Given the description of an element on the screen output the (x, y) to click on. 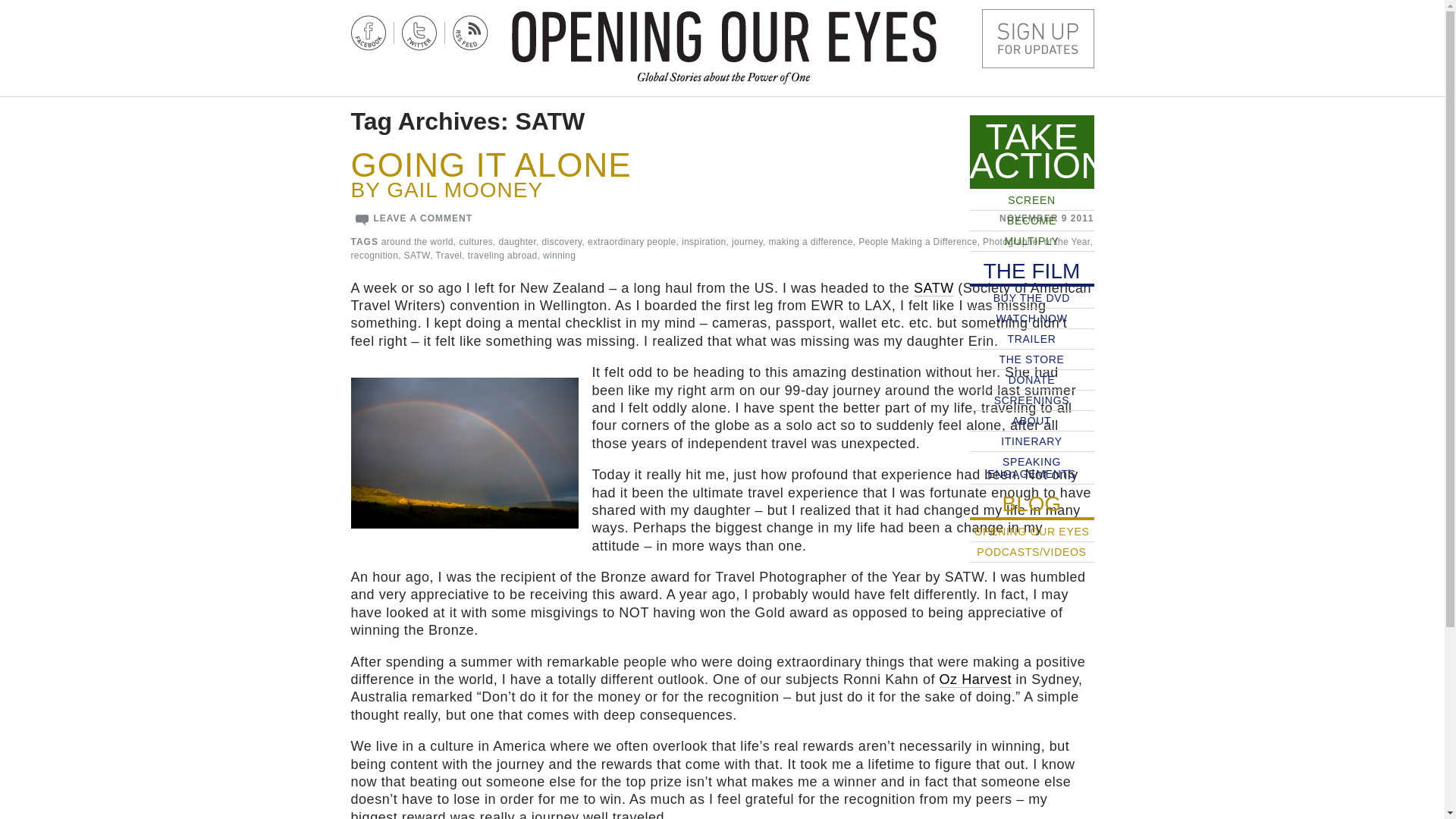
LEAVE A COMMENT (421, 217)
daughter (518, 241)
discovery (560, 241)
cultures (475, 241)
Facebook (367, 32)
around the world (416, 241)
RSS (469, 32)
Permanent Link to Going it Alone (490, 164)
Opening Our Eyes (723, 36)
Host a Screening (1037, 38)
Twitter (419, 32)
GOING IT ALONE (490, 164)
